Given the description of an element on the screen output the (x, y) to click on. 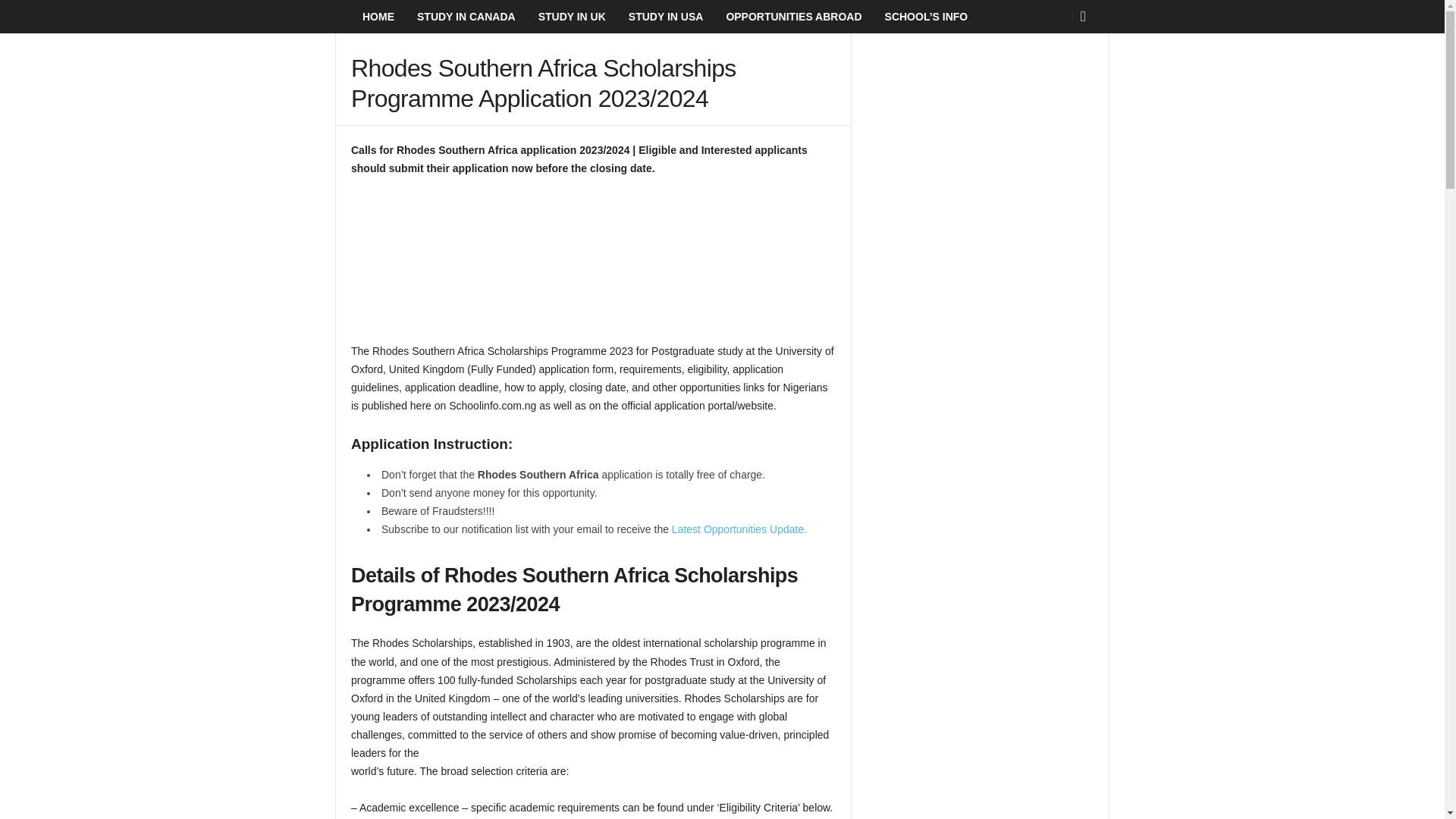
Latest Opportunities Update. (738, 529)
OPPORTUNITIES ABROAD (793, 16)
STUDY IN CANADA (466, 16)
HOME (378, 16)
STUDY IN UK (572, 16)
STUDY IN USA (665, 16)
